Given the description of an element on the screen output the (x, y) to click on. 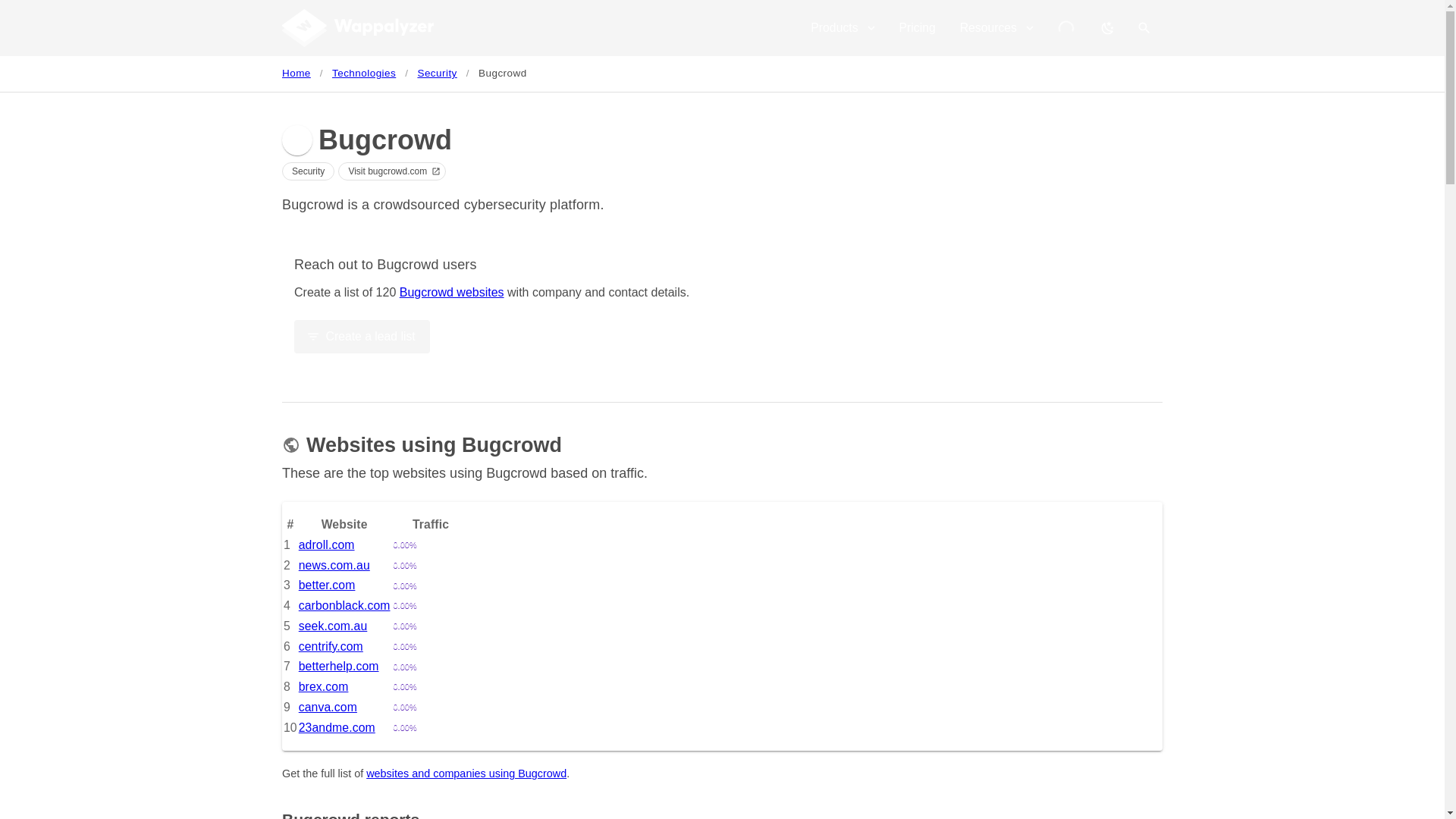
Visit bugcrowd.com (391, 171)
Bugcrowd websites (450, 291)
23andme.com (336, 726)
Resources (996, 27)
Home (296, 73)
adroll.com (326, 544)
centrify.com (330, 645)
Products (841, 27)
brex.com (323, 686)
Technologies (363, 73)
carbonblack.com (344, 604)
Security (436, 73)
better.com (326, 584)
news.com.au (333, 563)
seek.com.au (333, 625)
